Given the description of an element on the screen output the (x, y) to click on. 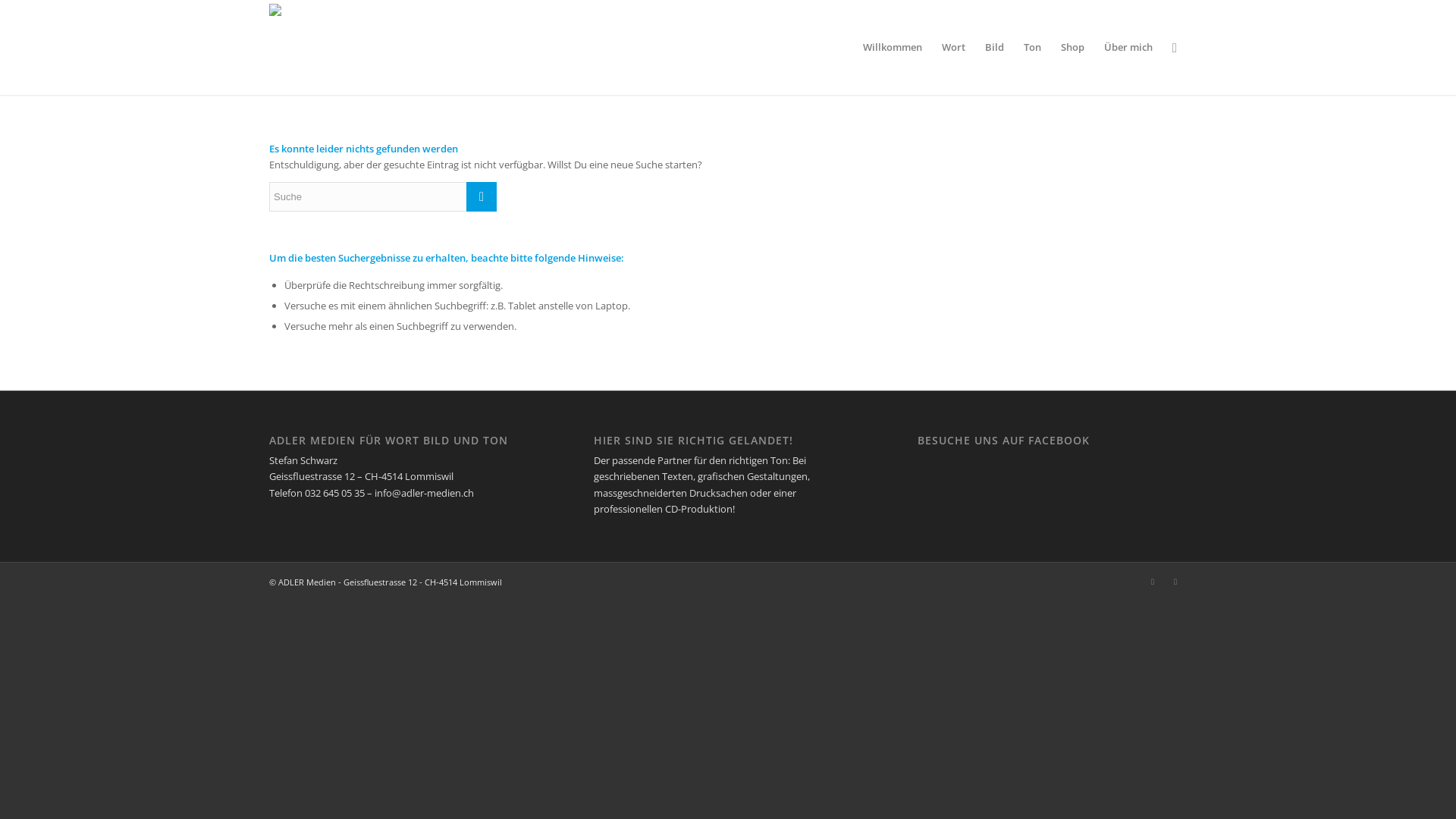
Facebook Element type: hover (1152, 581)
Willkommen Element type: text (892, 47)
Shop Element type: text (1072, 47)
Bild Element type: text (994, 47)
Wort Element type: text (953, 47)
Youtube Element type: hover (1175, 581)
Ton Element type: text (1032, 47)
